Given the description of an element on the screen output the (x, y) to click on. 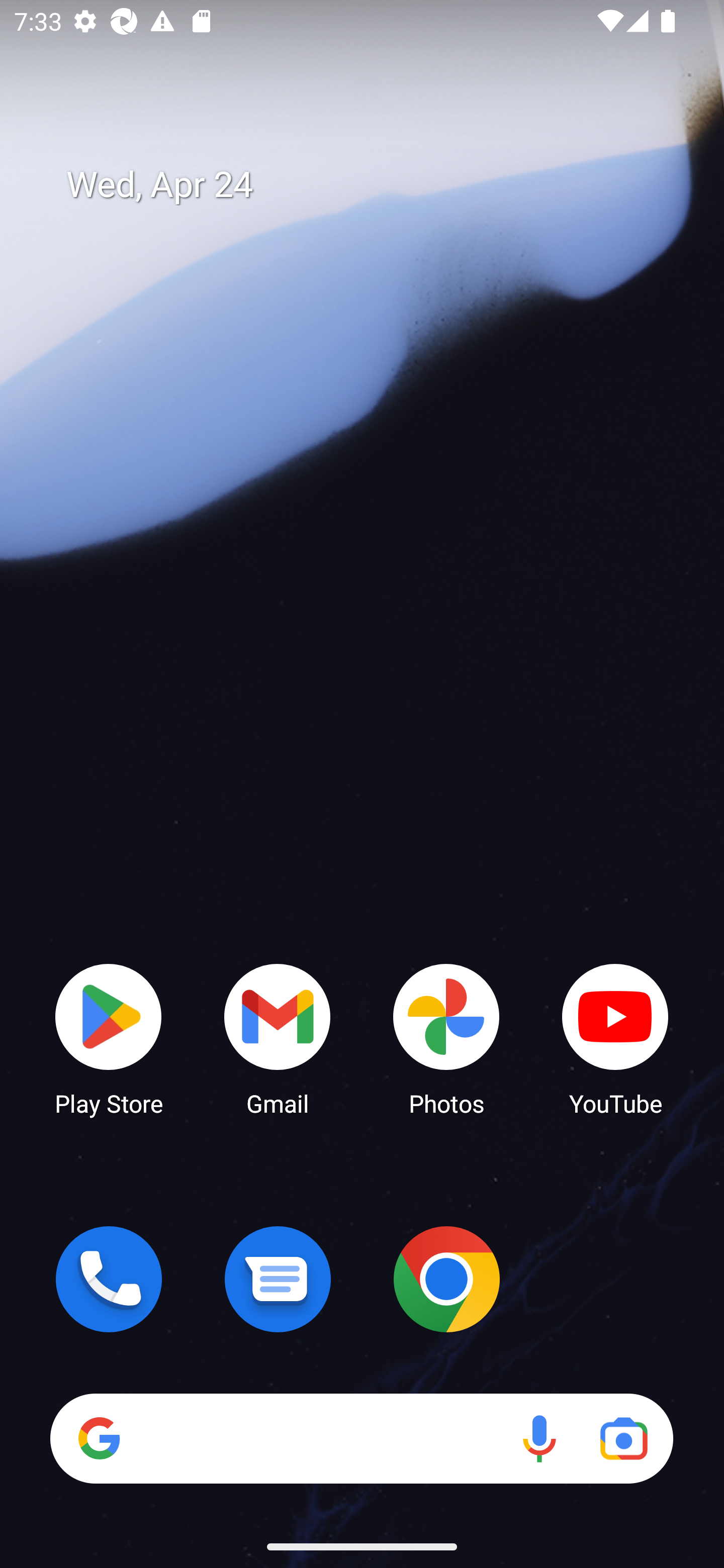
Wed, Apr 24 (375, 184)
Play Store (108, 1038)
Gmail (277, 1038)
Photos (445, 1038)
YouTube (615, 1038)
Phone (108, 1279)
Messages (277, 1279)
Chrome (446, 1279)
Search Voice search Google Lens (361, 1438)
Voice search (539, 1438)
Google Lens (623, 1438)
